Given the description of an element on the screen output the (x, y) to click on. 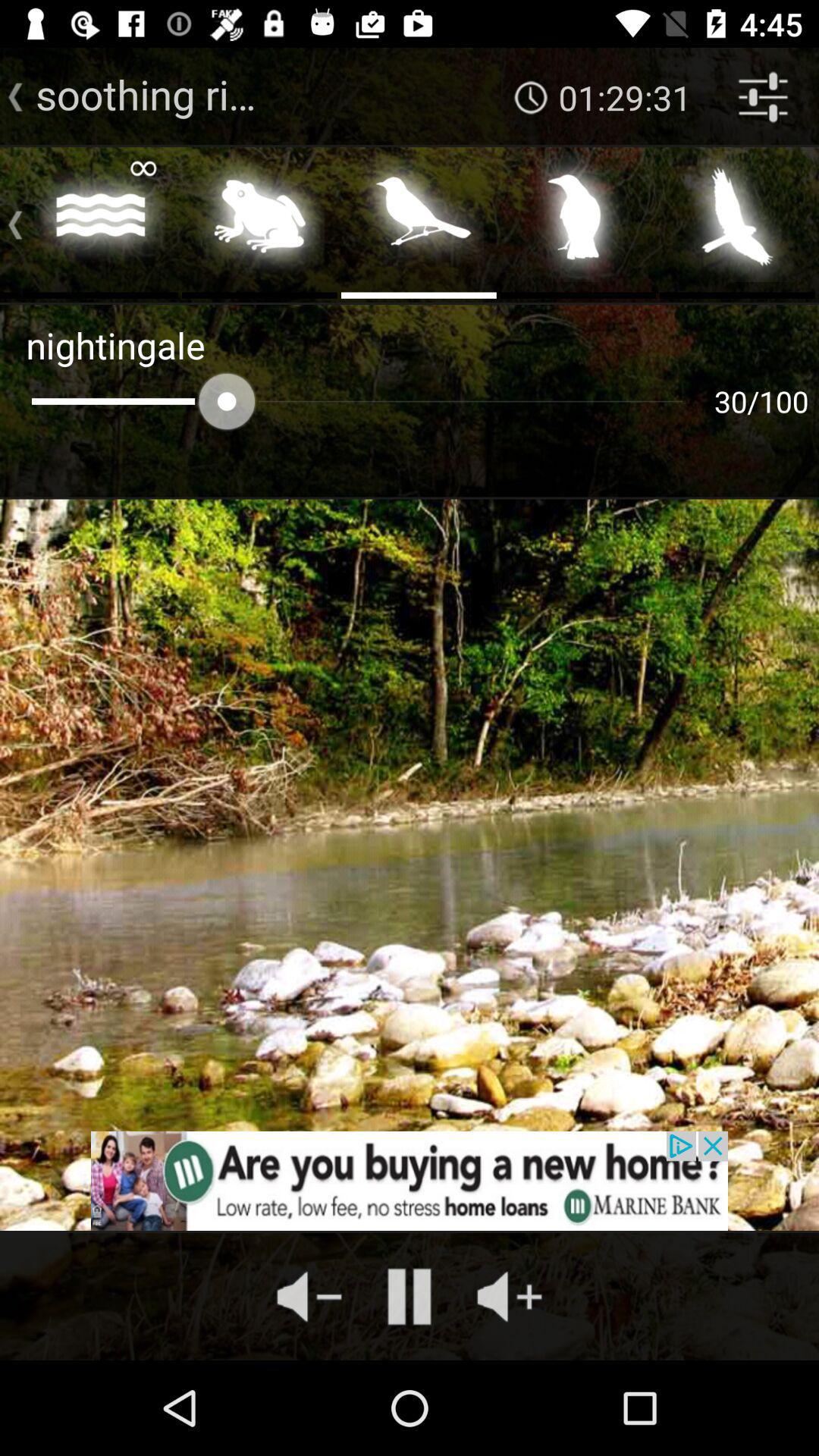
add frog sounds (259, 221)
